Given the description of an element on the screen output the (x, y) to click on. 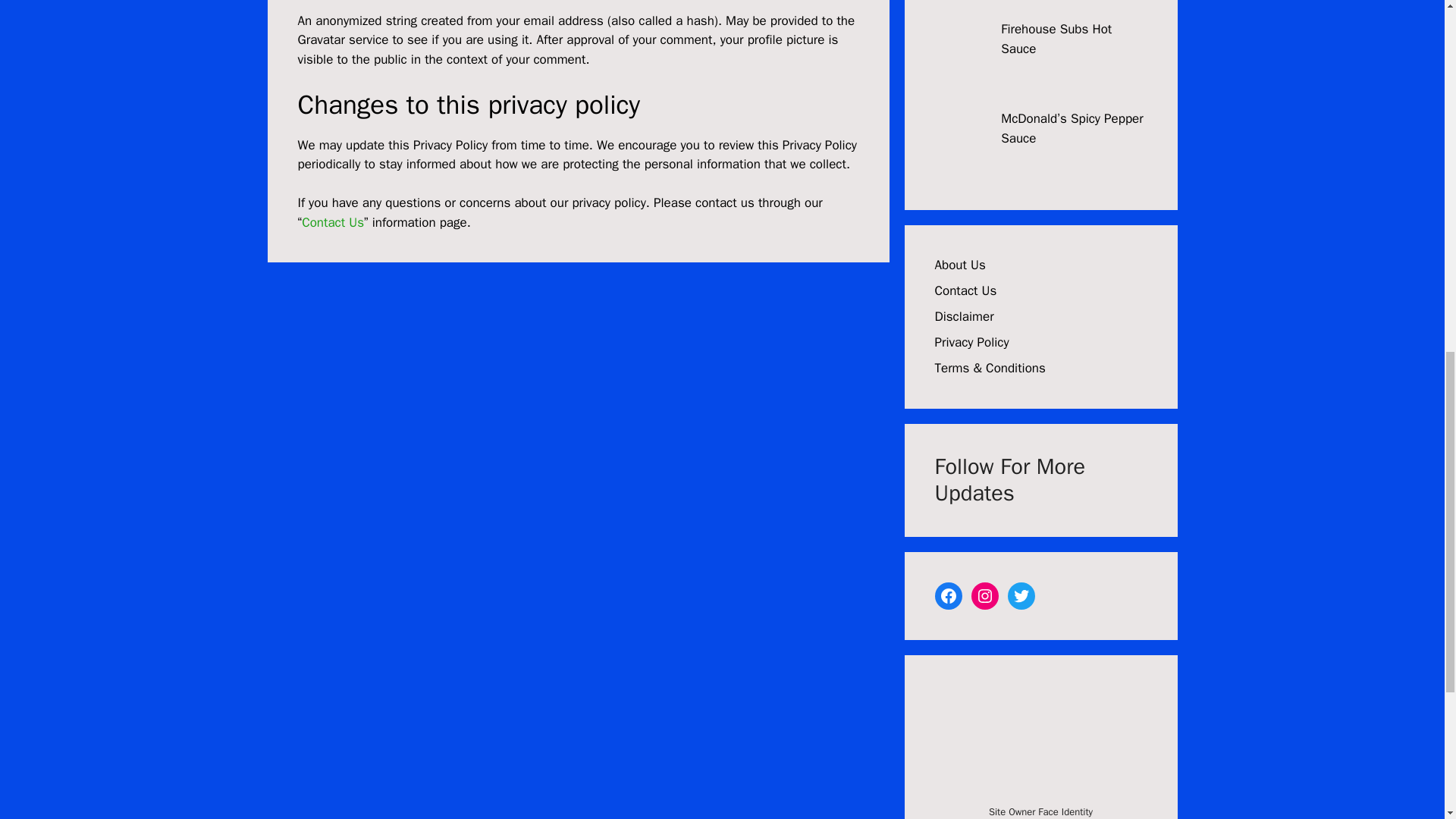
Facebook (947, 595)
About Us (959, 264)
Twitter (1020, 595)
Contact Us (964, 290)
Privacy Policy (971, 342)
Firehouse Subs Hot Sauce (1056, 38)
Contact Us (332, 222)
Instagram (984, 595)
Disclaimer (963, 316)
Scroll back to top (1406, 720)
